Given the description of an element on the screen output the (x, y) to click on. 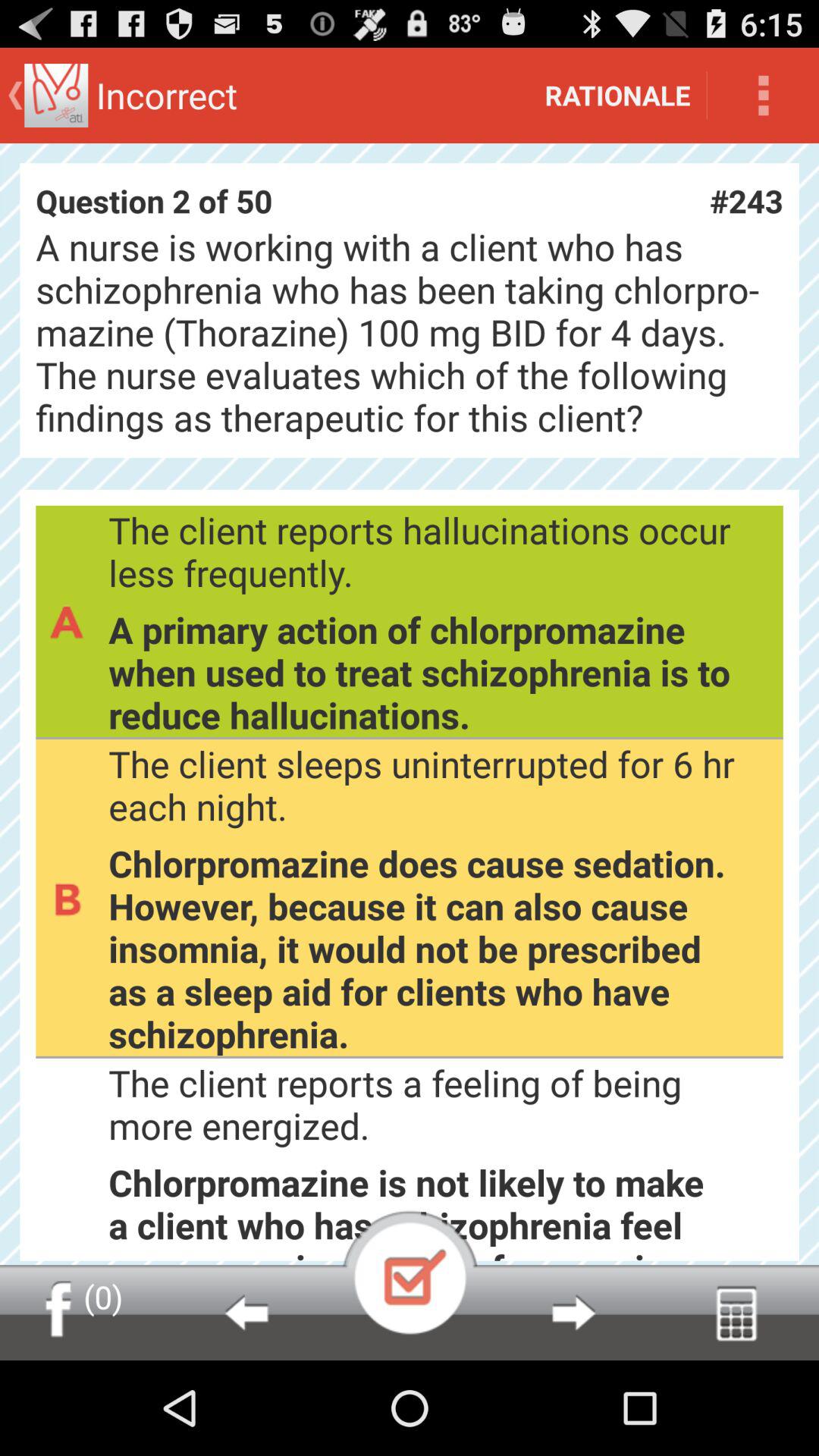
open the app next to the (0) (245, 1312)
